Given the description of an element on the screen output the (x, y) to click on. 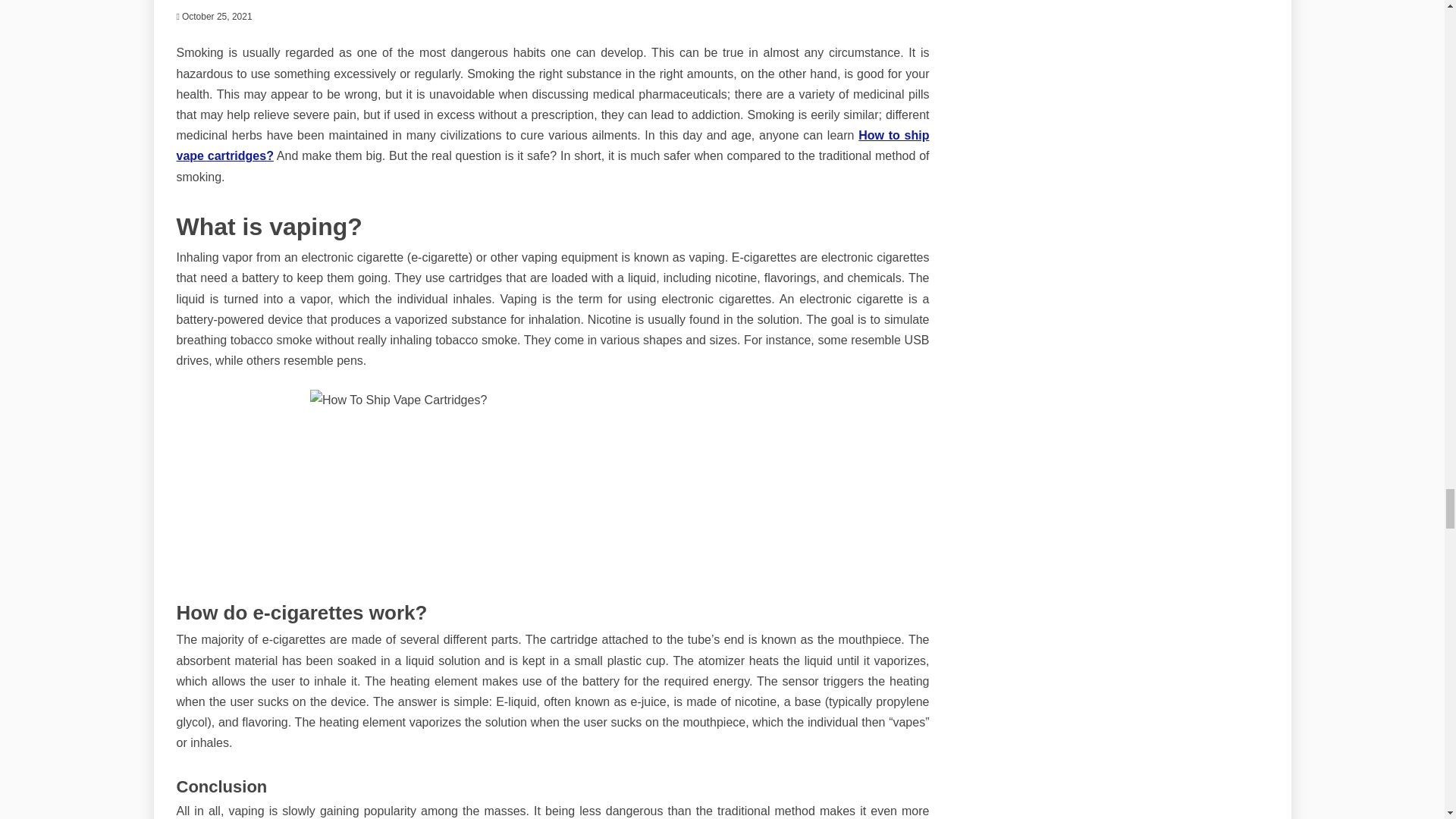
How To Ship Vape Cartridges? (552, 483)
